Given the description of an element on the screen output the (x, y) to click on. 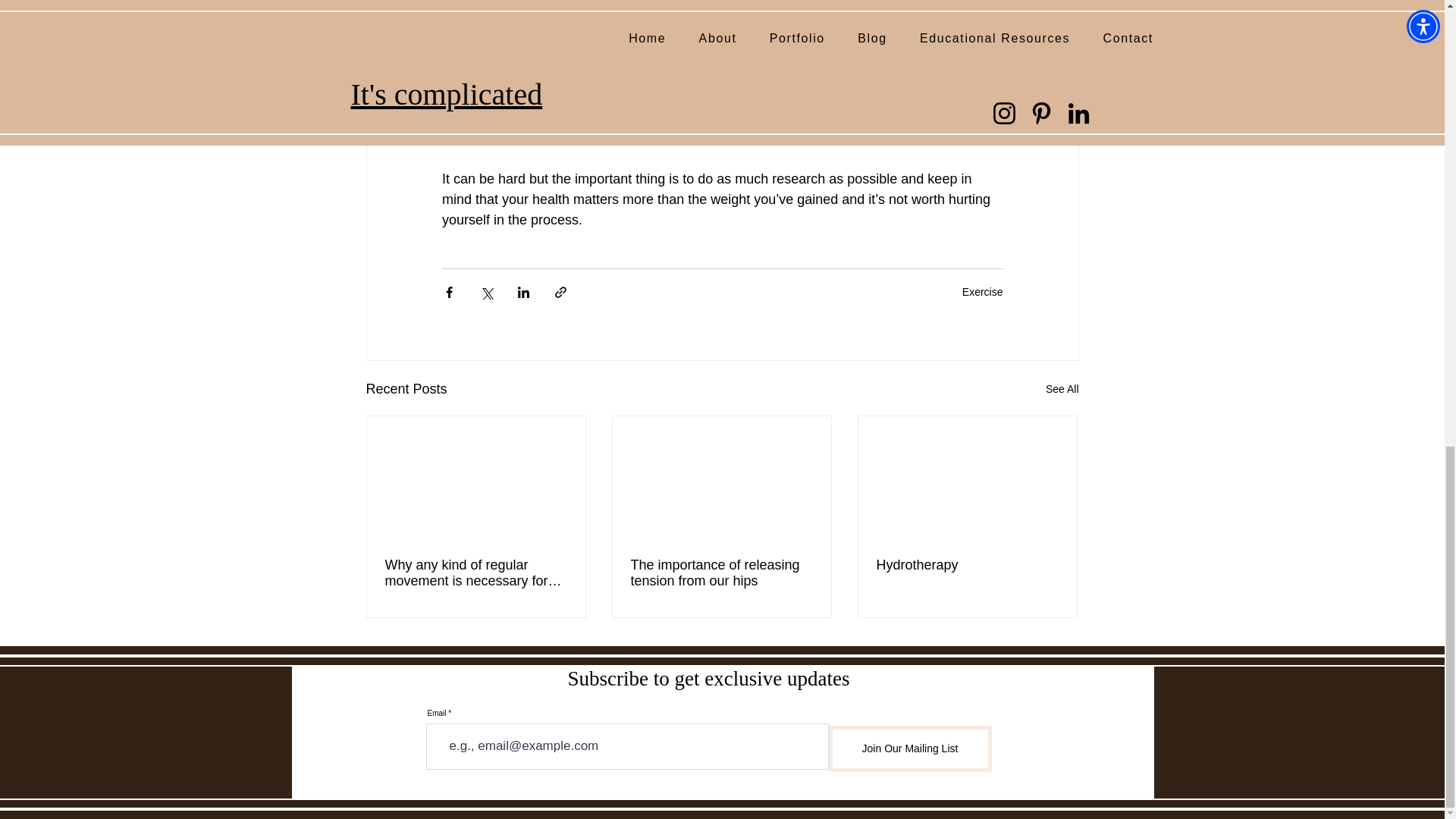
Join Our Mailing List (909, 748)
The importance of releasing tension from our hips (721, 572)
Exercise (982, 291)
Hydrotherapy (967, 565)
See All (1061, 389)
